Given the description of an element on the screen output the (x, y) to click on. 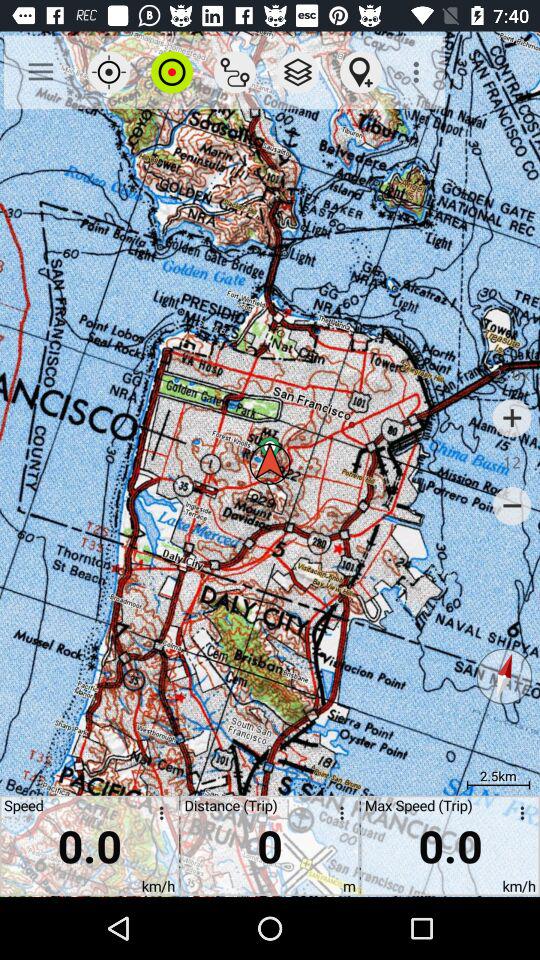
choose app above the distance (trip) icon (297, 71)
